Given the description of an element on the screen output the (x, y) to click on. 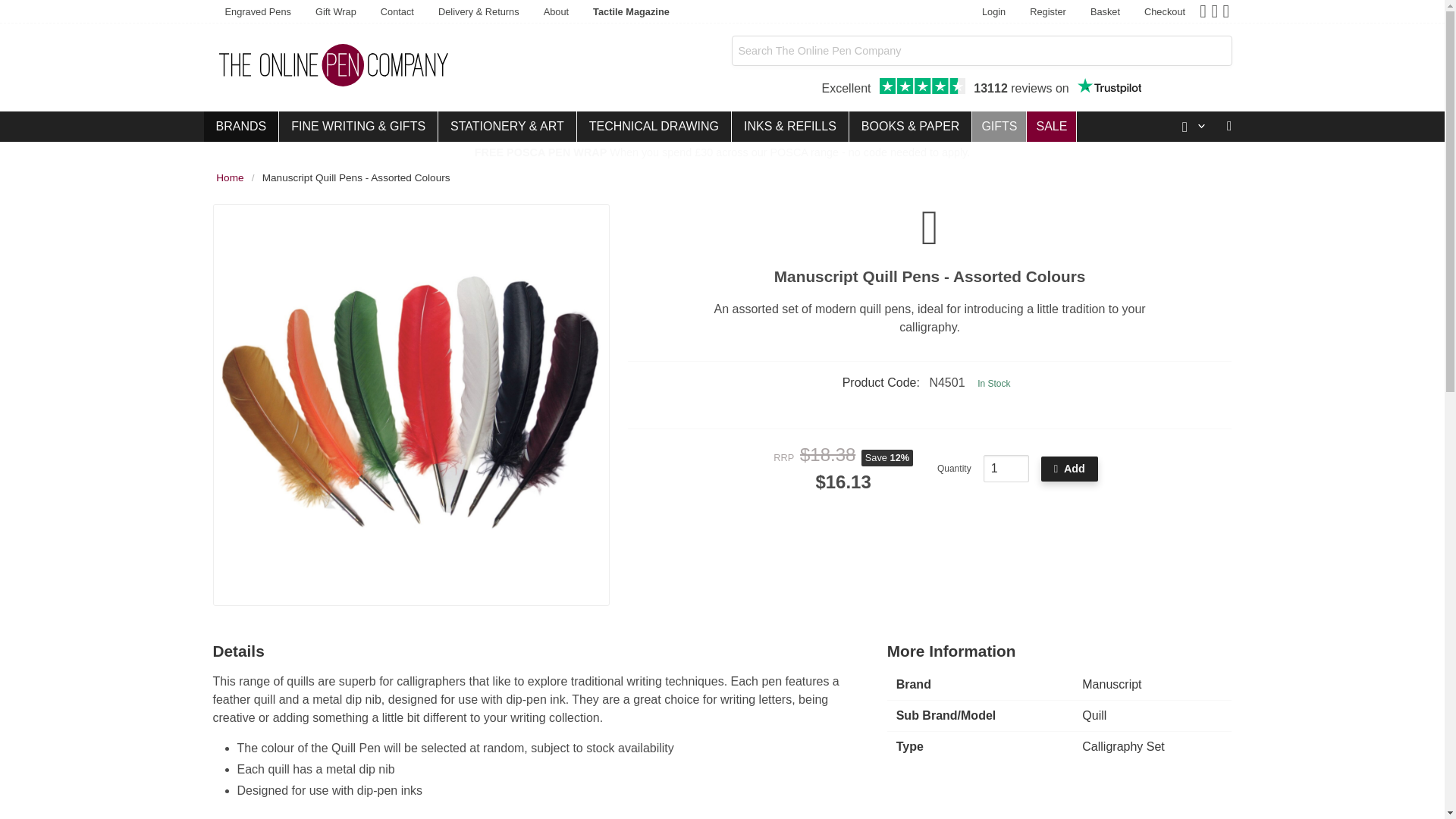
About (555, 11)
Contact (397, 11)
Basket (980, 88)
Tactile Magazine (1105, 11)
BRANDS (630, 11)
Trustpilot (240, 126)
Engraved Pens (1109, 85)
Checkout (257, 11)
1 (1164, 11)
Register (1006, 468)
Login (1047, 11)
Gift Wrap (993, 11)
